Given the description of an element on the screen output the (x, y) to click on. 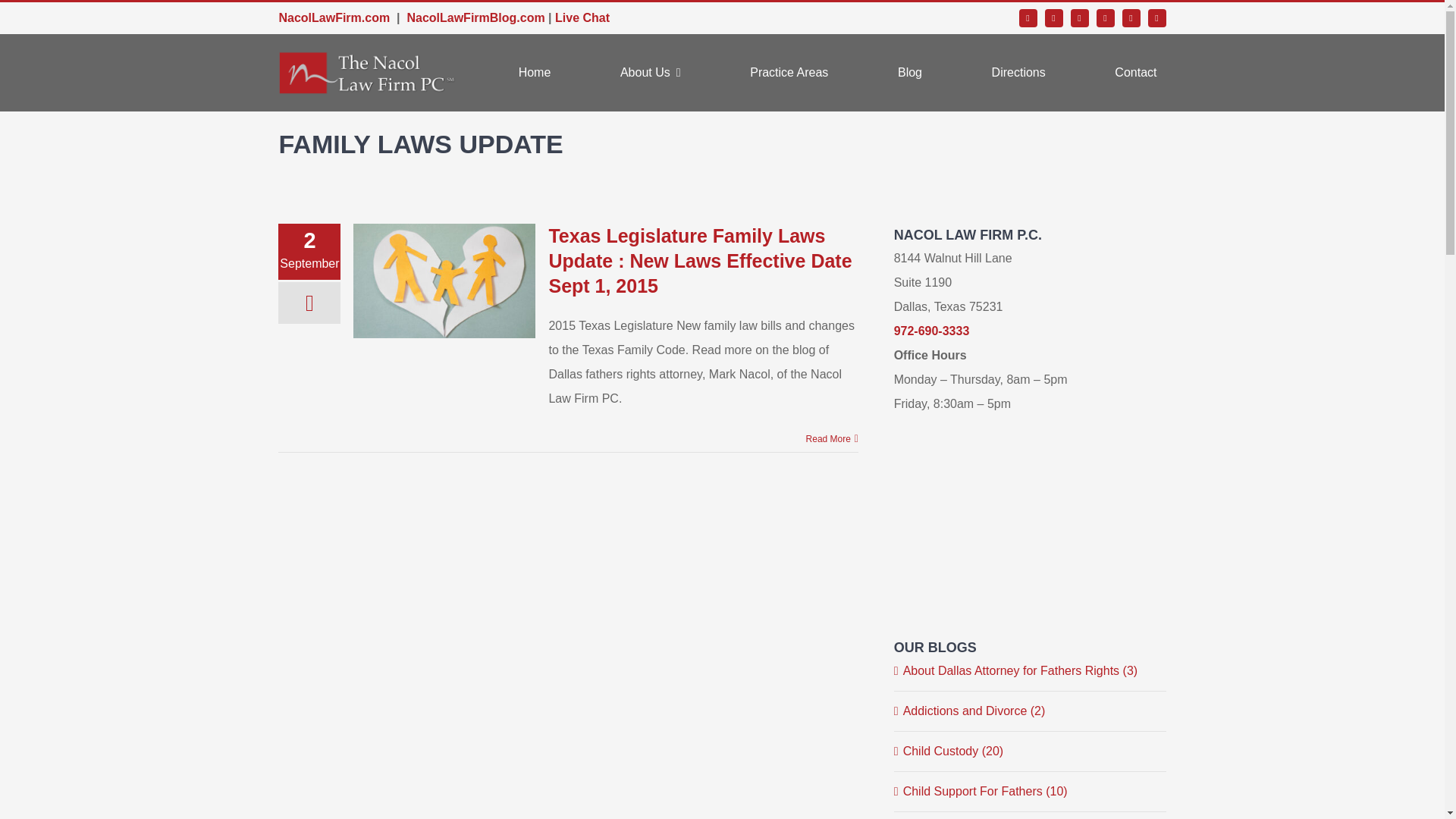
Contact (1135, 72)
Live Chat (582, 17)
Blog (909, 72)
NacolLawFirm.com (334, 17)
972-690-3333 (931, 330)
Directions (1018, 72)
Read More (828, 439)
About Us (650, 72)
Home (534, 72)
NacolLawFirmBlog.com (475, 17)
Practice Areas (789, 72)
